Given the description of an element on the screen output the (x, y) to click on. 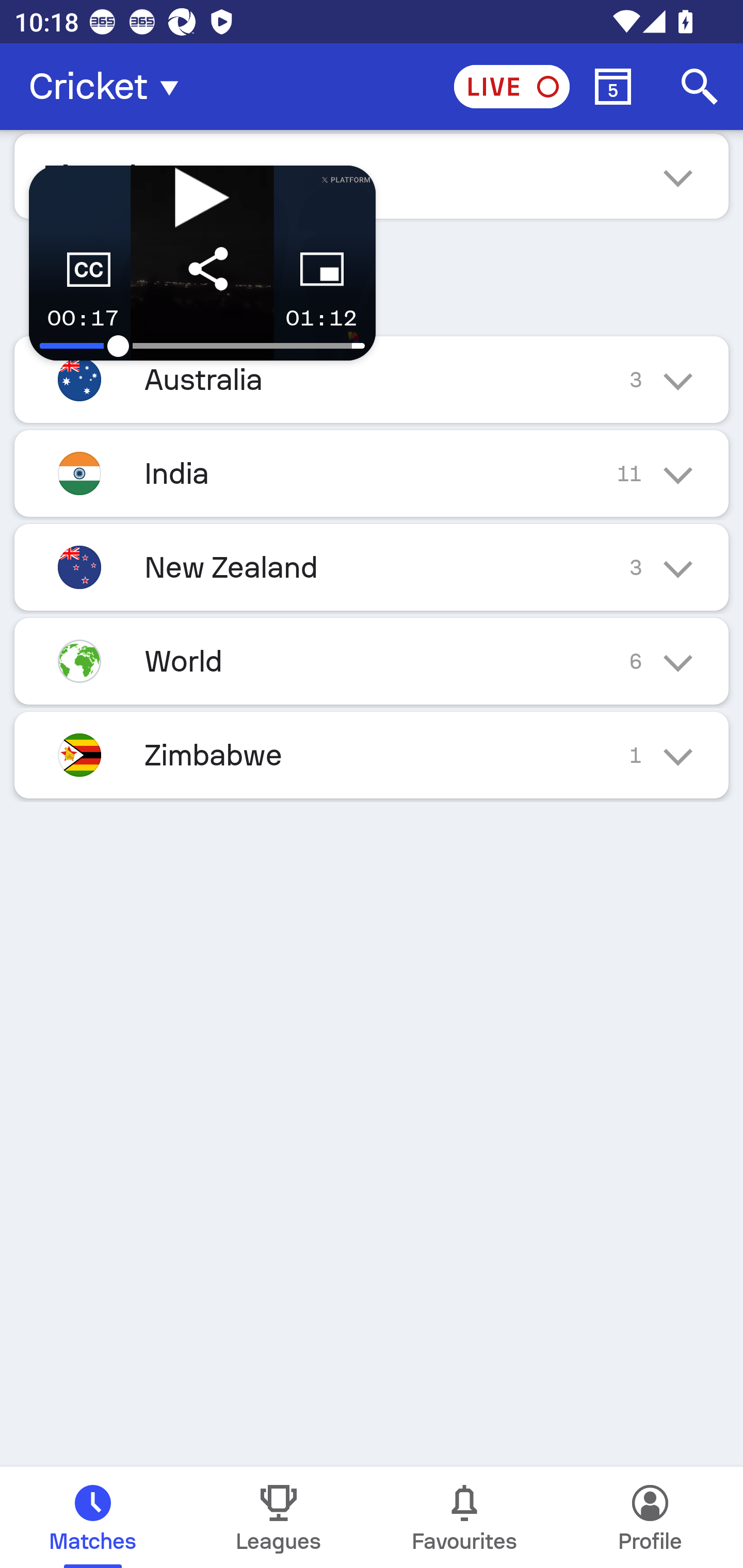
Cricket (109, 86)
Calendar (612, 86)
Search (699, 86)
Australia 3 (371, 379)
India 11 (371, 473)
New Zealand 3 (371, 566)
World 6 (371, 660)
Zimbabwe 1 (371, 754)
Leagues (278, 1517)
Favourites (464, 1517)
Profile (650, 1517)
